Given the description of an element on the screen output the (x, y) to click on. 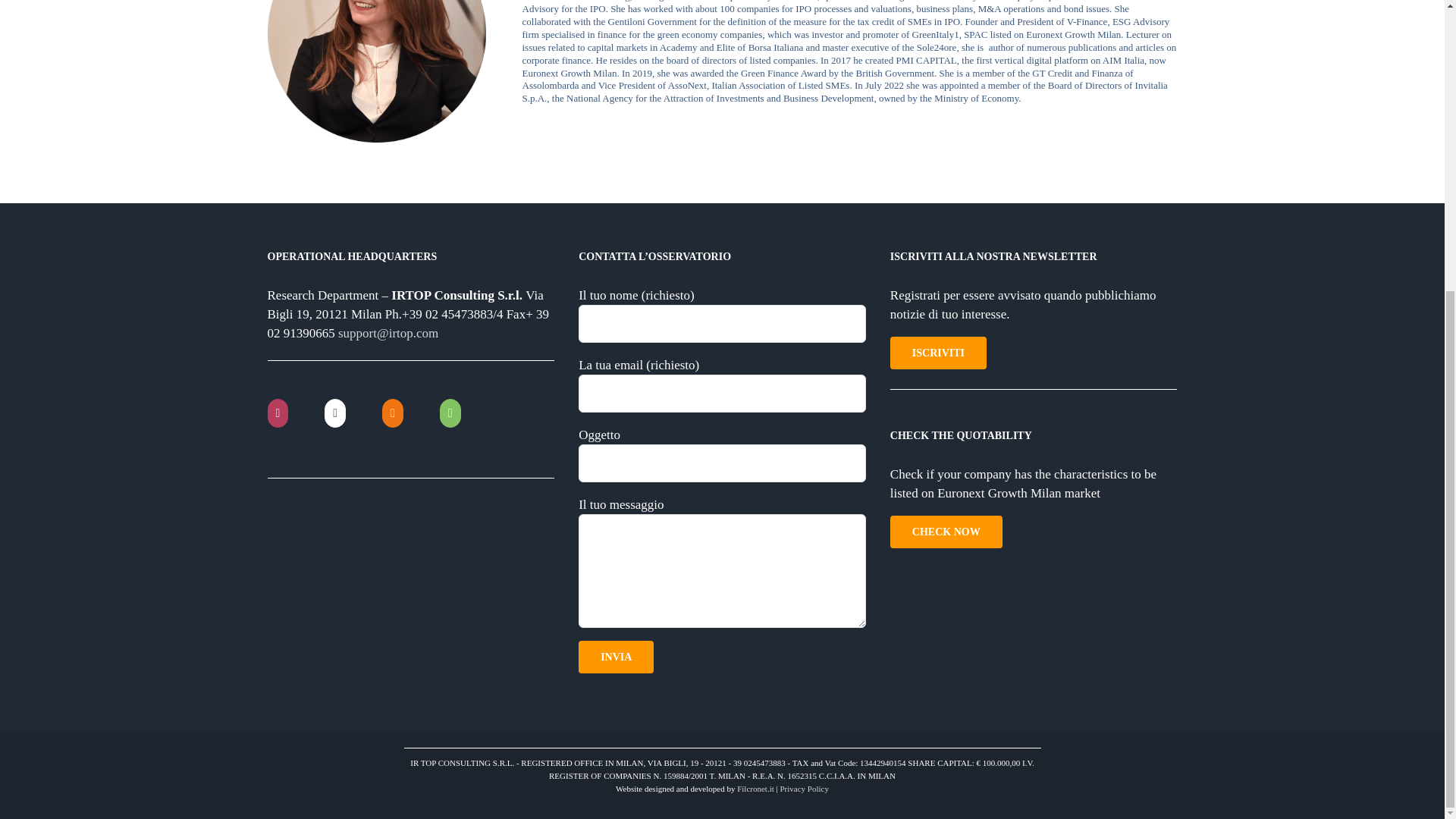
INVIA (615, 656)
Privacy Policy (803, 788)
ISCRIVITI (938, 352)
CHECK NOW (946, 531)
INVIA (615, 656)
Filcronet.it (755, 788)
iscrizione (938, 352)
